Given the description of an element on the screen output the (x, y) to click on. 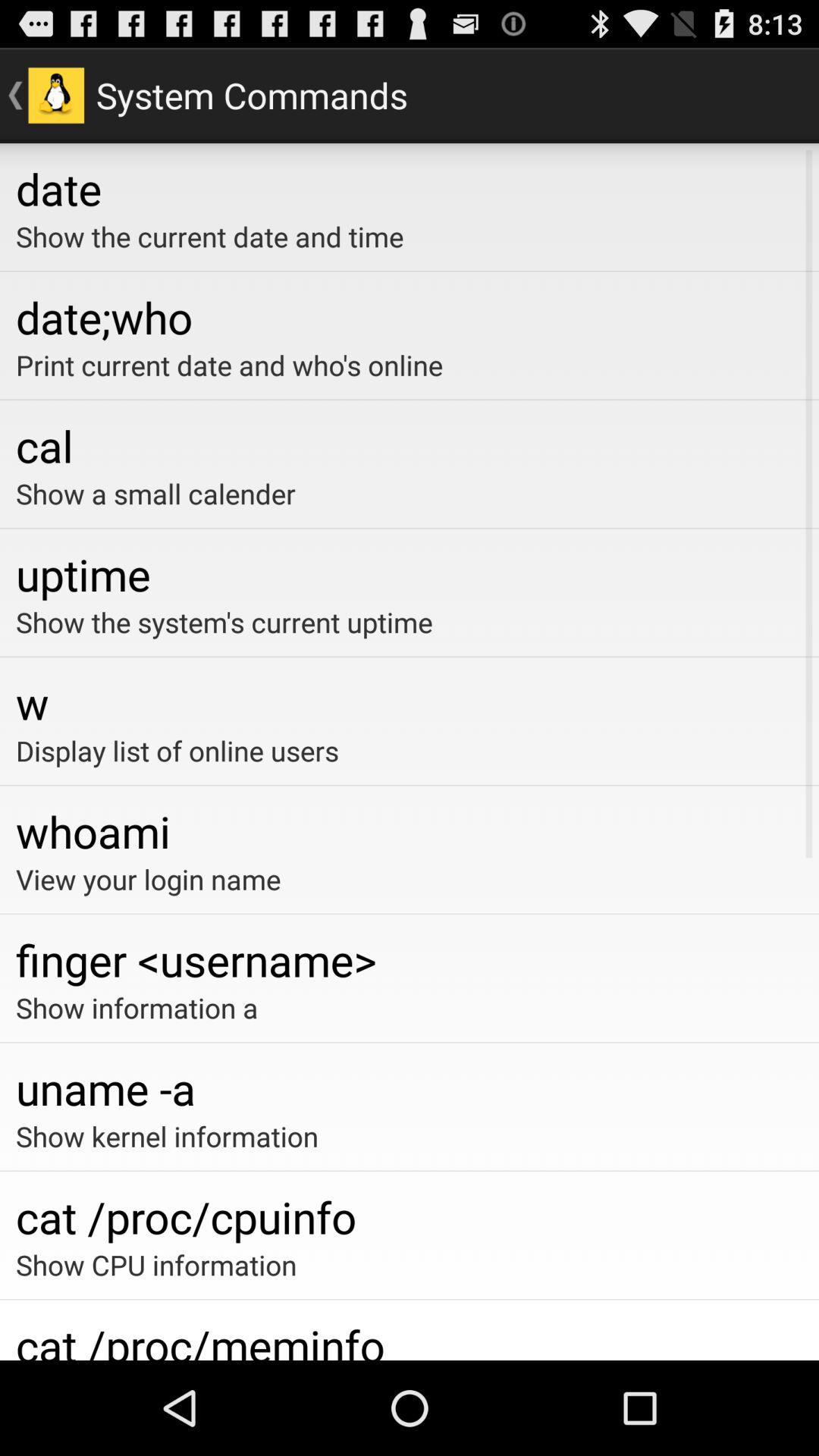
launch item below show information a app (409, 1088)
